Given the description of an element on the screen output the (x, y) to click on. 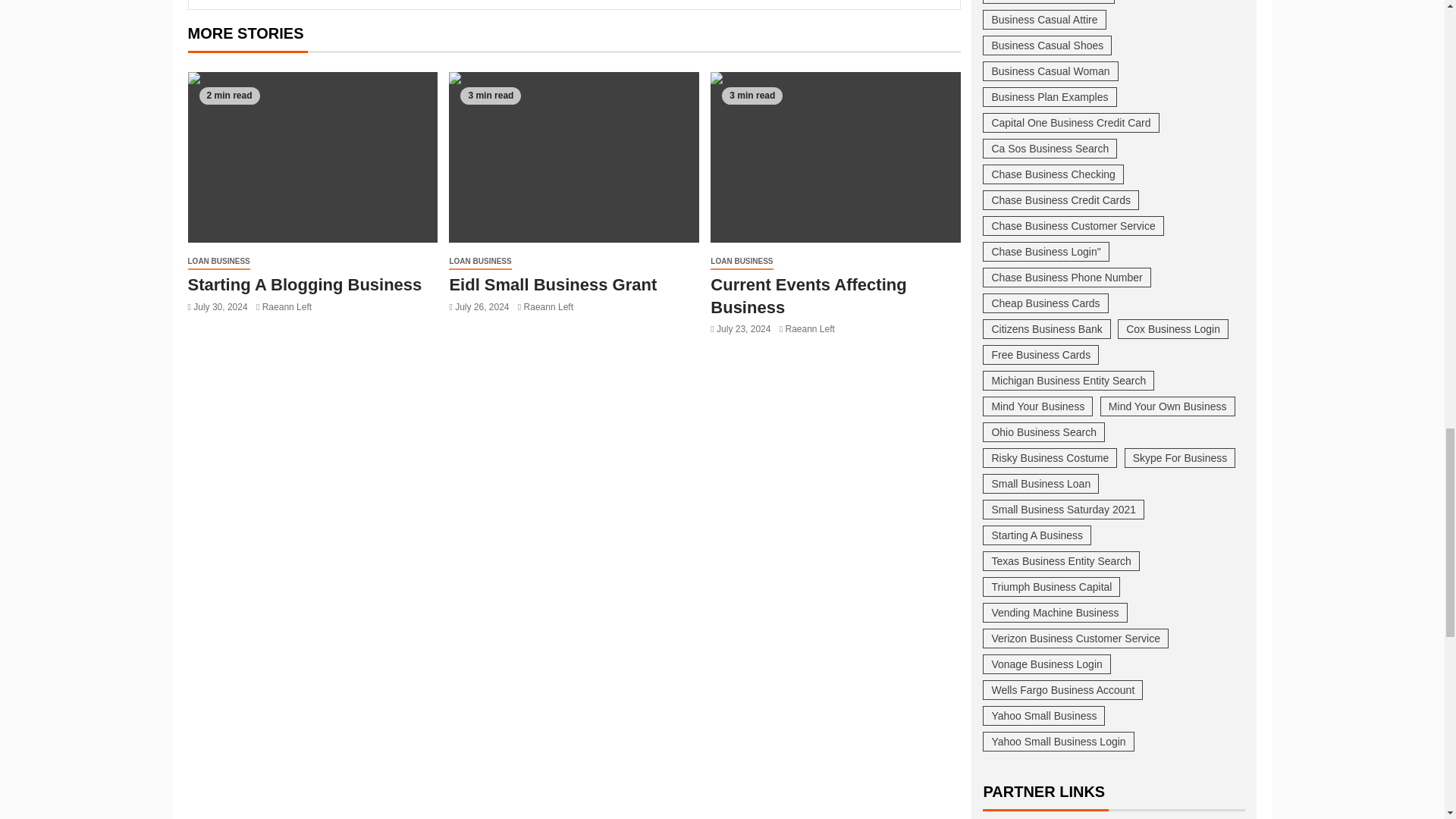
Government Relief For Small Business (301, 295)
Starting A Blogging Business (573, 157)
Eidl Small Business Grant (835, 157)
Raeann Left (293, 328)
LOAN BUSINESS (218, 261)
Government Relief For Small Business (312, 157)
